Given the description of an element on the screen output the (x, y) to click on. 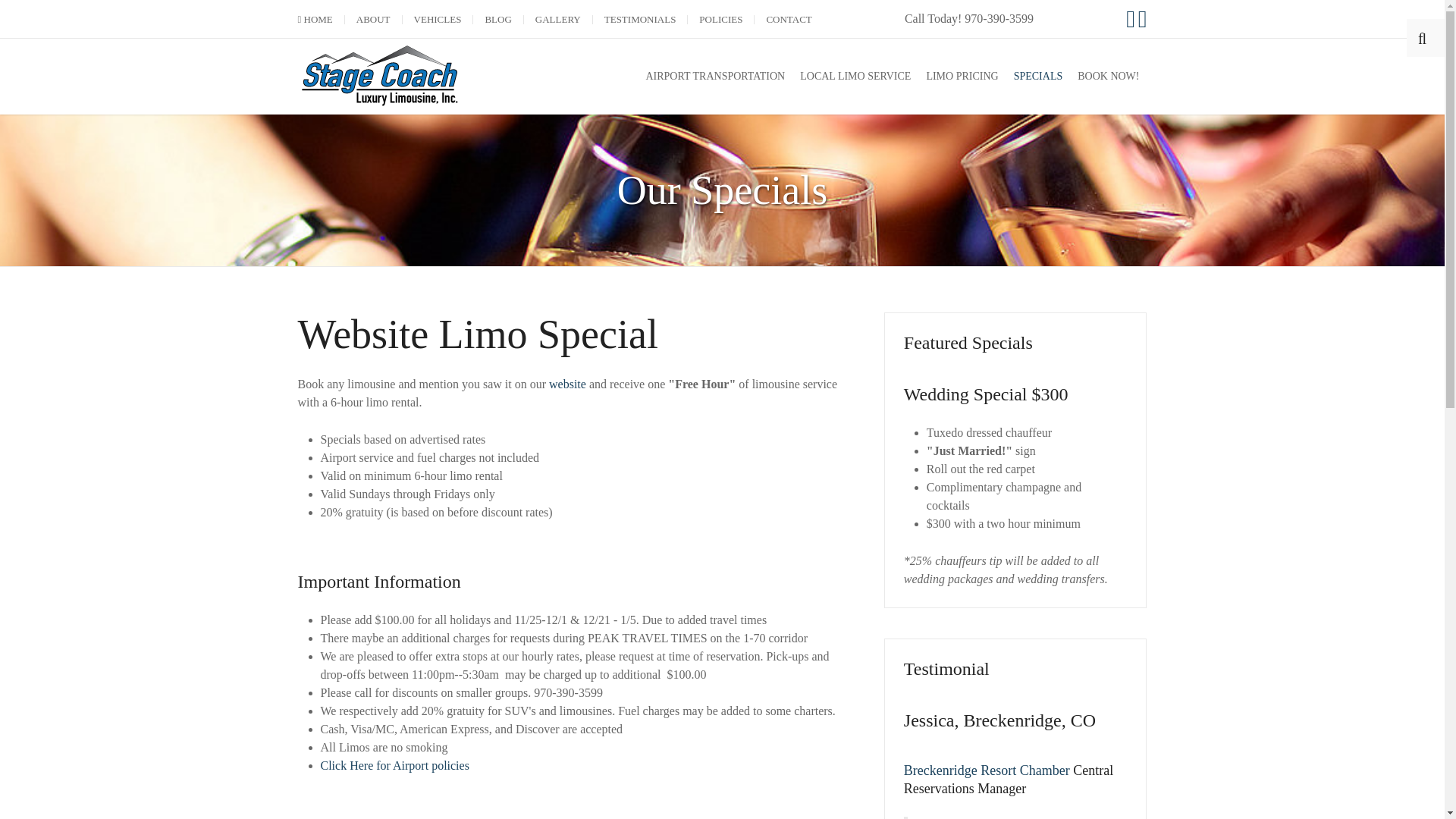
CONTACT (787, 19)
VEHICLES (437, 19)
SPECIALS (1038, 76)
POLICIES (720, 19)
LIMO PRICING (962, 76)
BOOK NOW! (1108, 76)
HOME (314, 19)
Breckenridge Resort Chamber (987, 770)
BLOG (497, 19)
AIRPORT TRANSPORTATION (714, 76)
GALLERY (557, 19)
website (567, 383)
TESTIMONIALS (640, 19)
Click Here for Airport policies (394, 765)
LOCAL LIMO SERVICE (855, 76)
